Given the description of an element on the screen output the (x, y) to click on. 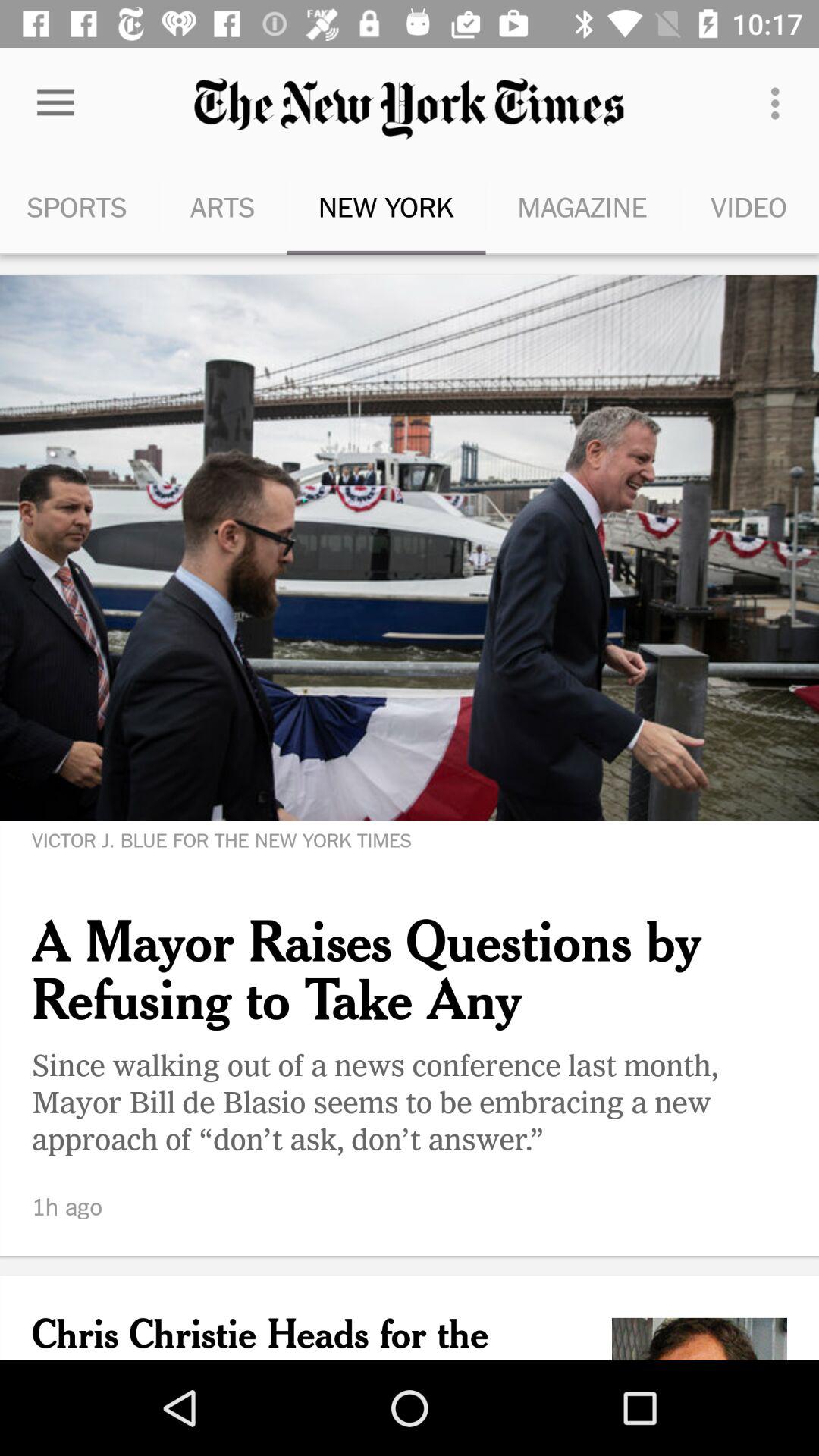
turn on icon above video icon (779, 103)
